Given the description of an element on the screen output the (x, y) to click on. 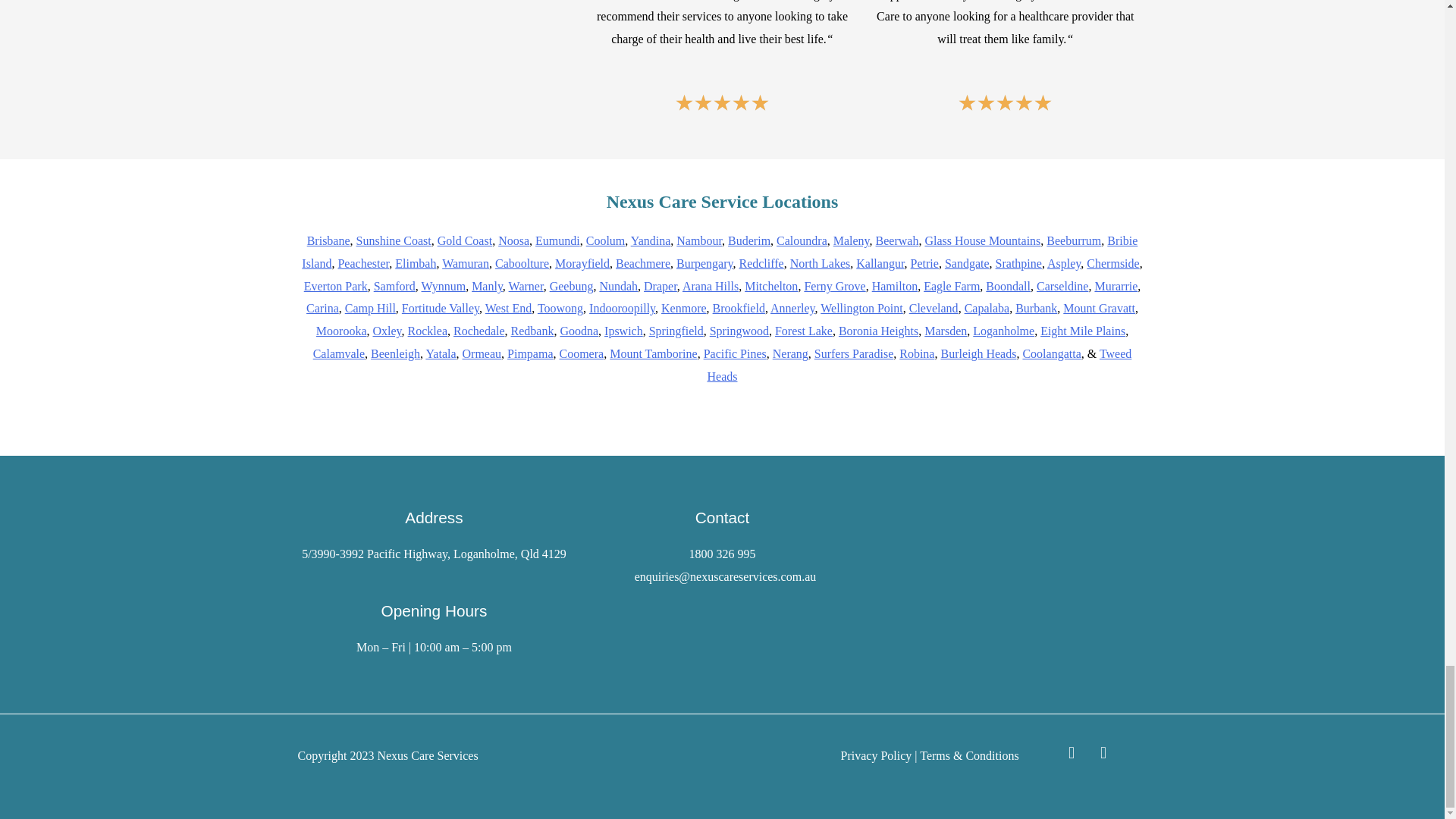
Gold Coast (465, 240)
Morayfield (582, 263)
Glass House Mountains (982, 240)
Maleny (850, 240)
Sunshine Coast (393, 240)
Beerwah (897, 240)
Beachmere (642, 263)
Eumundi (557, 240)
Elimbah (414, 263)
Bribie Island (719, 252)
Wamuran (465, 263)
Burpengary (705, 263)
Coolum (606, 240)
Buderim (749, 240)
Beeburrum (1073, 240)
